Given the description of an element on the screen output the (x, y) to click on. 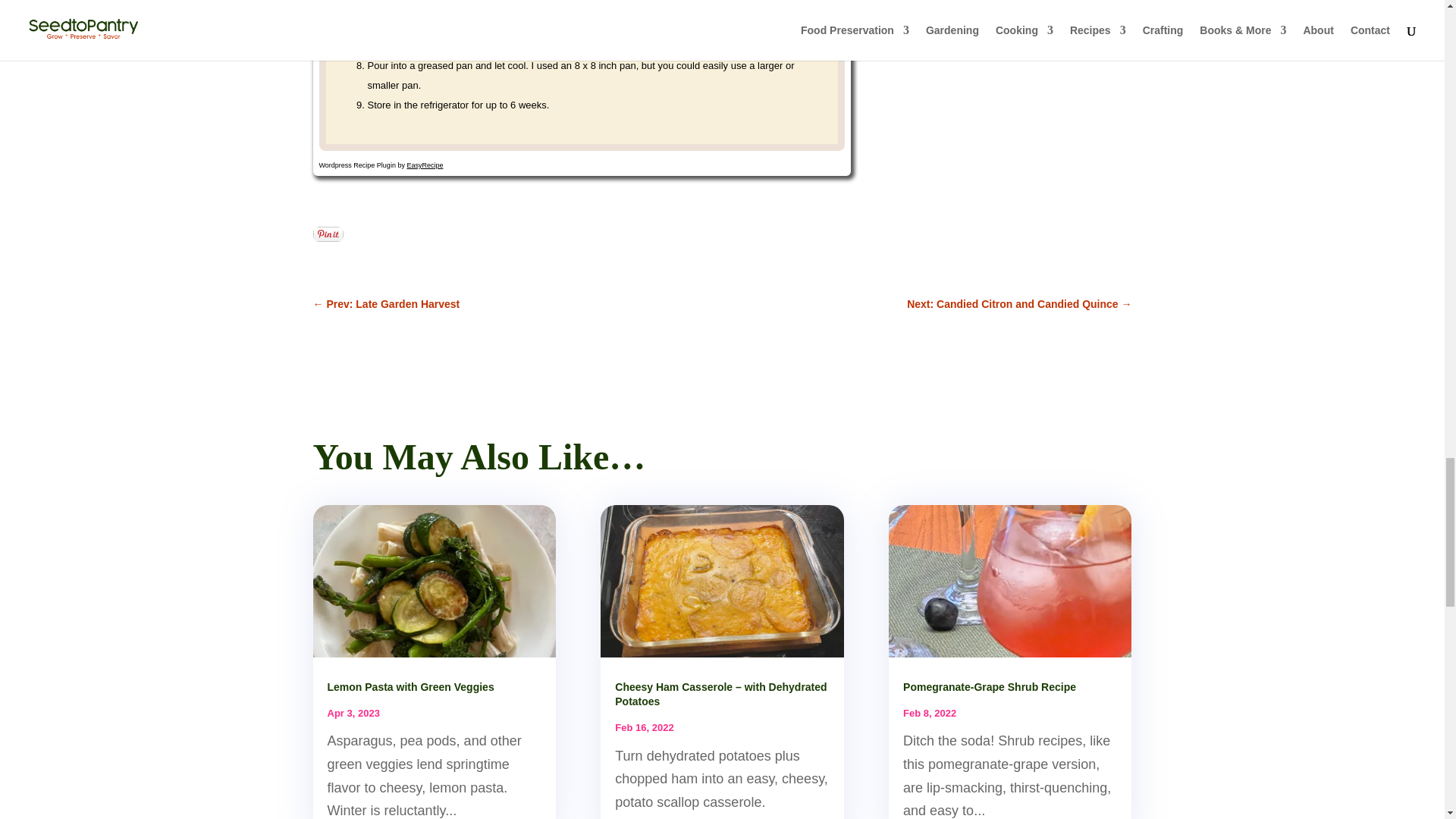
Pin It (327, 233)
EasyRecipe Wordpress Recipe Plugin (380, 164)
